Given the description of an element on the screen output the (x, y) to click on. 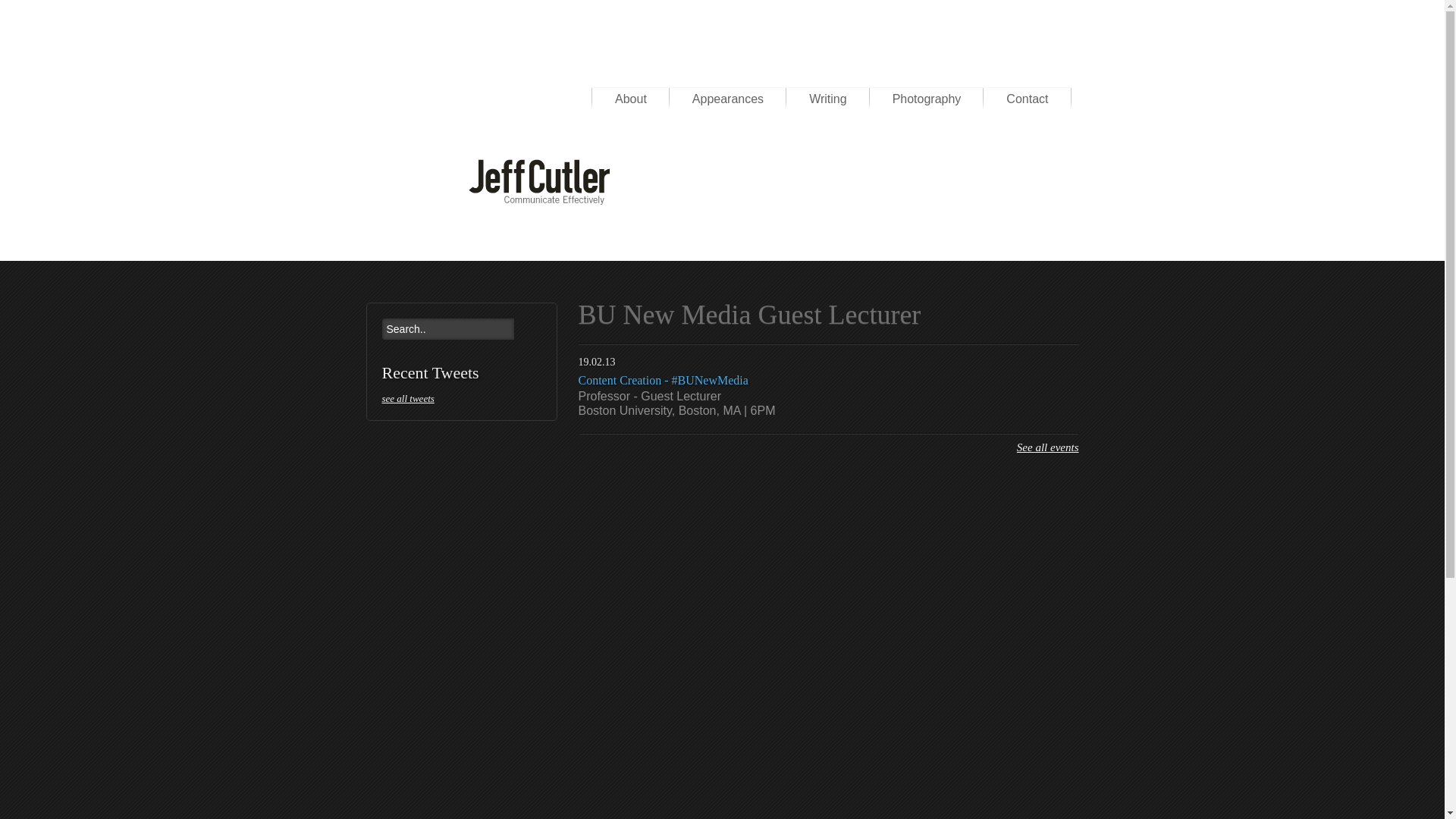
Appearances (727, 98)
see all tweets (461, 398)
Contact (1027, 98)
Jeff Cutler on LinkedIn (941, 64)
See all events (1047, 447)
Photography (926, 98)
Jeff Cutler on Flickr (1032, 64)
About (630, 98)
Jeff Cutler on YouTube (1002, 64)
Jeff Cutler on Facebook (881, 64)
Jeff Cutler on Twitter (911, 64)
Search.. (447, 328)
Jeff Cutler on Google Plus (971, 64)
Jeff Cutler RSS Feed (1063, 64)
Search.. (447, 328)
